Given the description of an element on the screen output the (x, y) to click on. 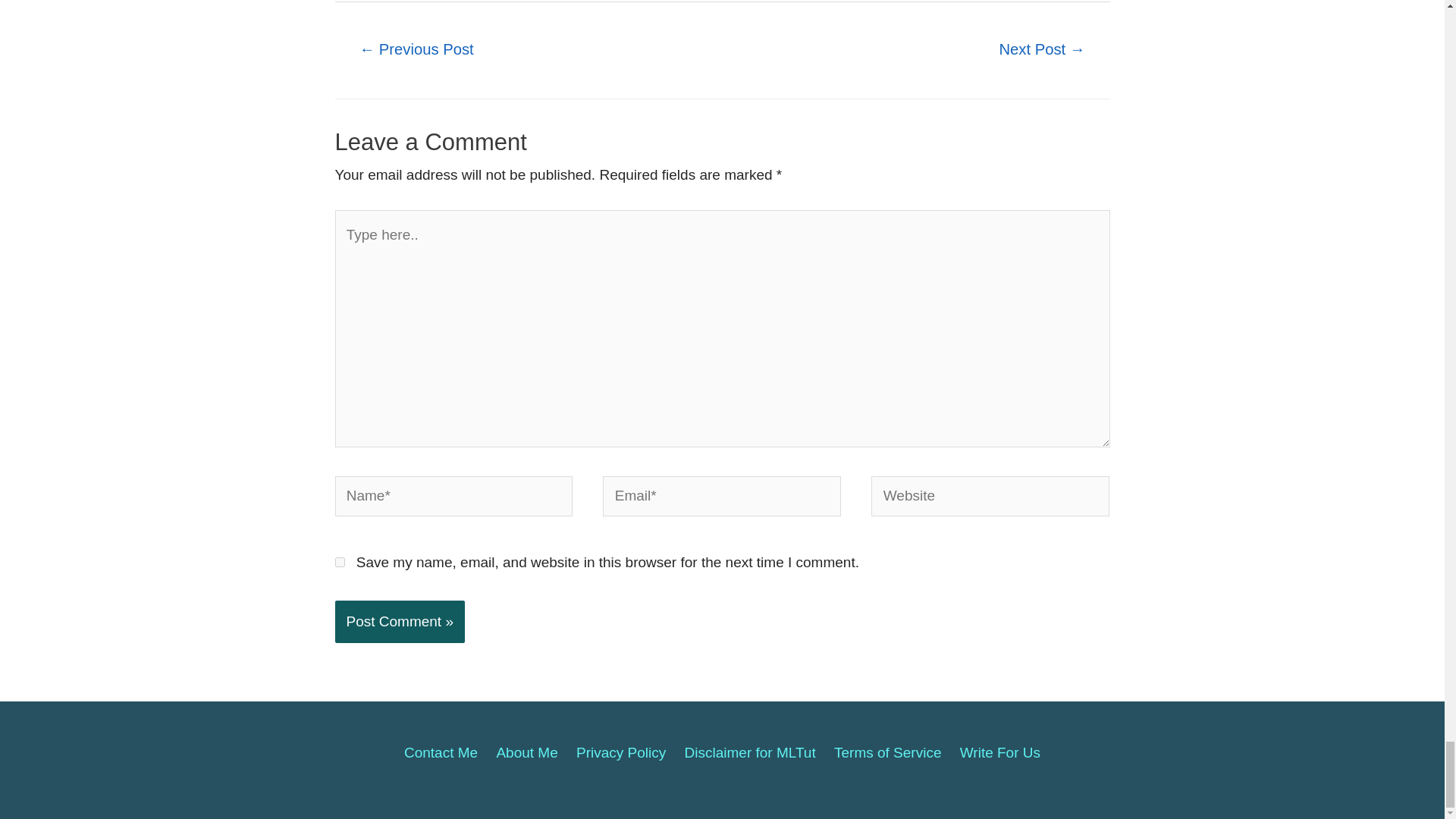
yes (339, 562)
